Given the description of an element on the screen output the (x, y) to click on. 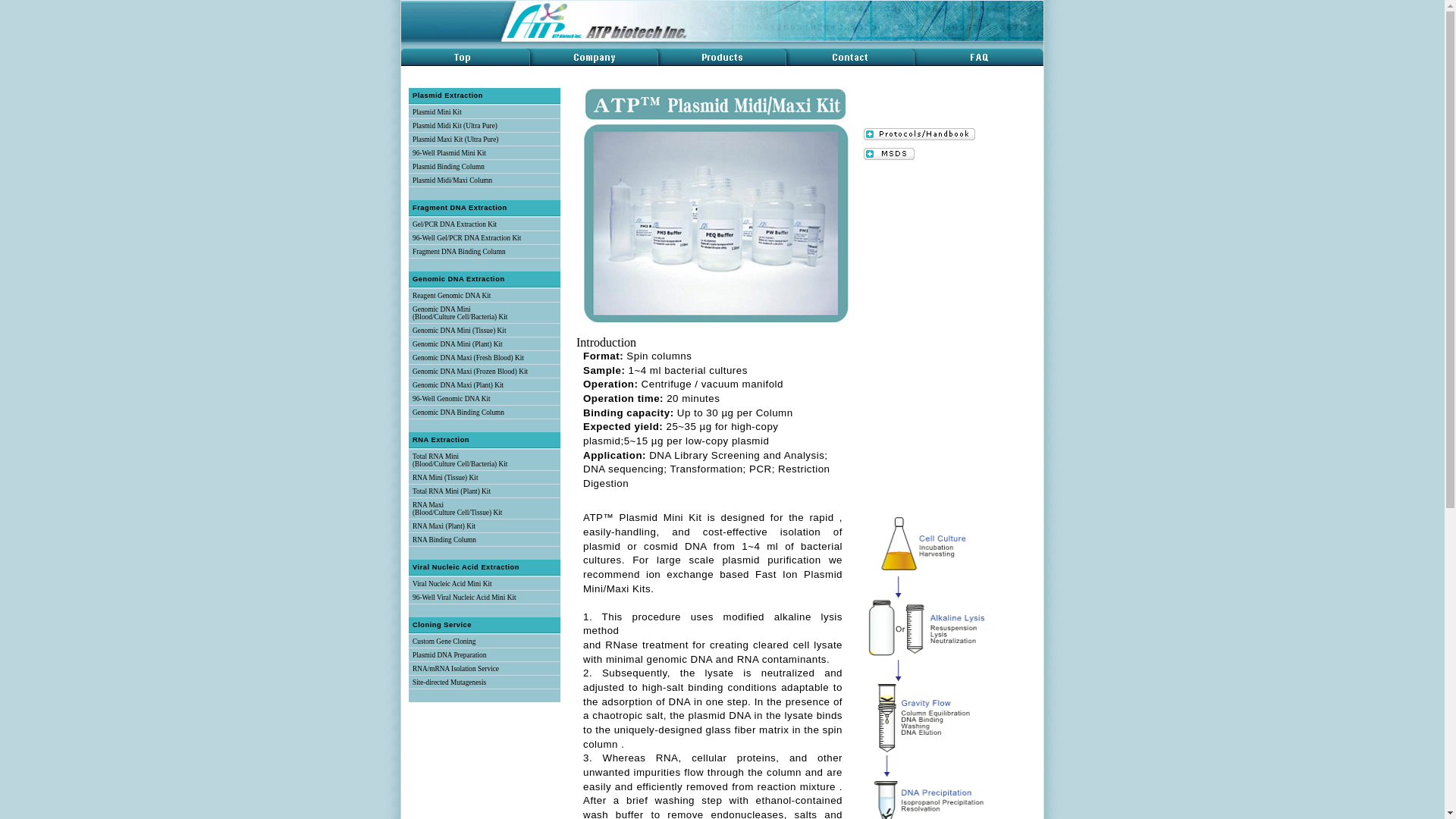
Reagent Genomic DNA Kit (451, 295)
RNA Binding Column (444, 539)
96-Well Genomic DNA Kit (451, 398)
96-Well Plasmid Mini Kit (449, 153)
96-Well Viral Nucleic Acid Mini Kit (464, 597)
Custom Gene Cloning (444, 641)
Fragment DNA Binding Column (458, 251)
Viral Nucleic Acid Mini Kit (452, 583)
Plasmid Binding Column (448, 166)
Plasmid DNA Preparation (449, 655)
